Given the description of an element on the screen output the (x, y) to click on. 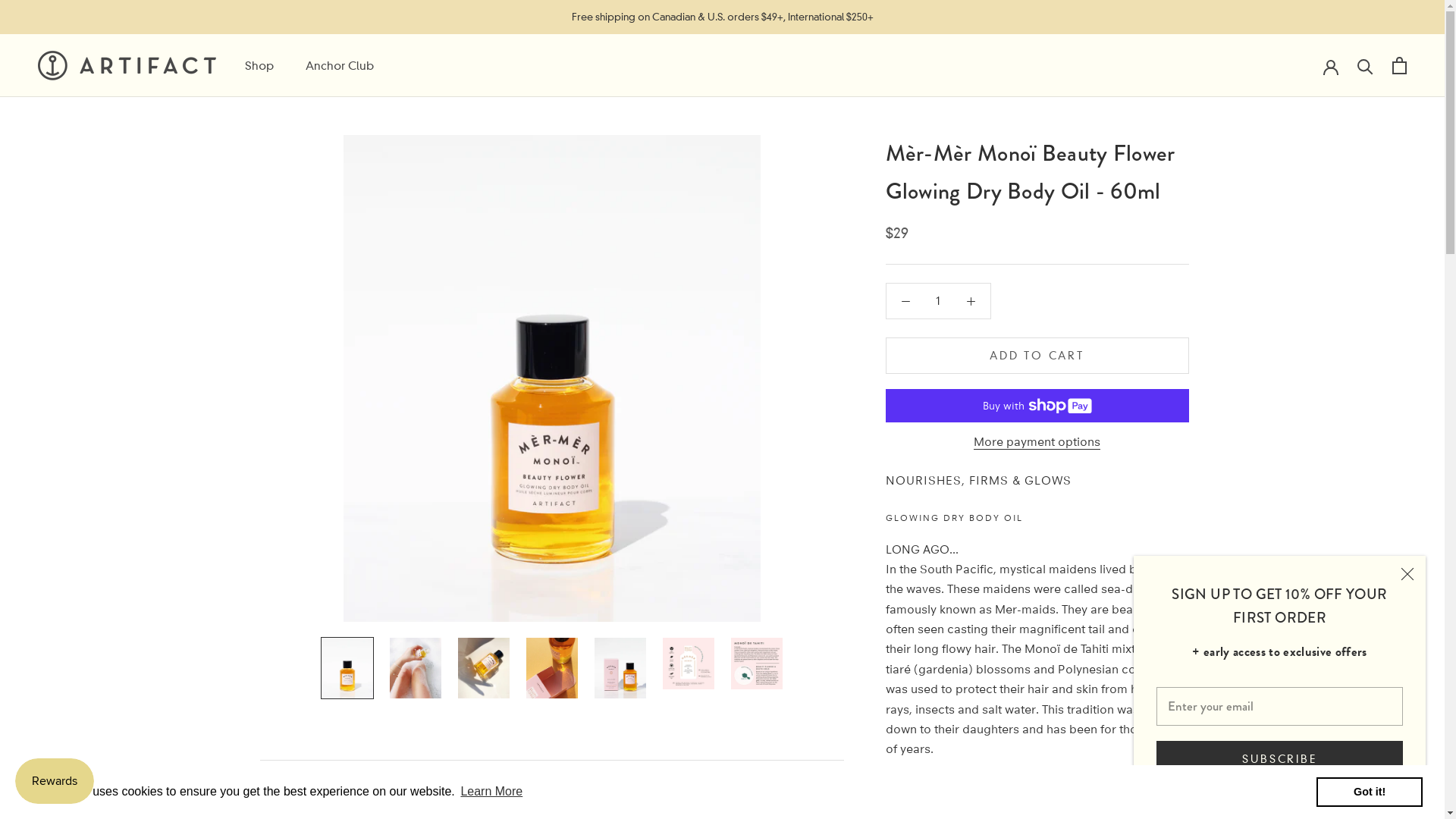
More payment options Element type: text (1036, 441)
Learn More Element type: text (491, 791)
ADD TO CART Element type: text (1037, 355)
Shop
Shop Element type: text (258, 65)
Anchor Club
Anchor Club Element type: text (339, 65)
Smile.io Rewards Program Launcher Element type: hover (54, 780)
Got it! Element type: text (1369, 791)
SUBSCRIBE Element type: text (1279, 758)
